Given the description of an element on the screen output the (x, y) to click on. 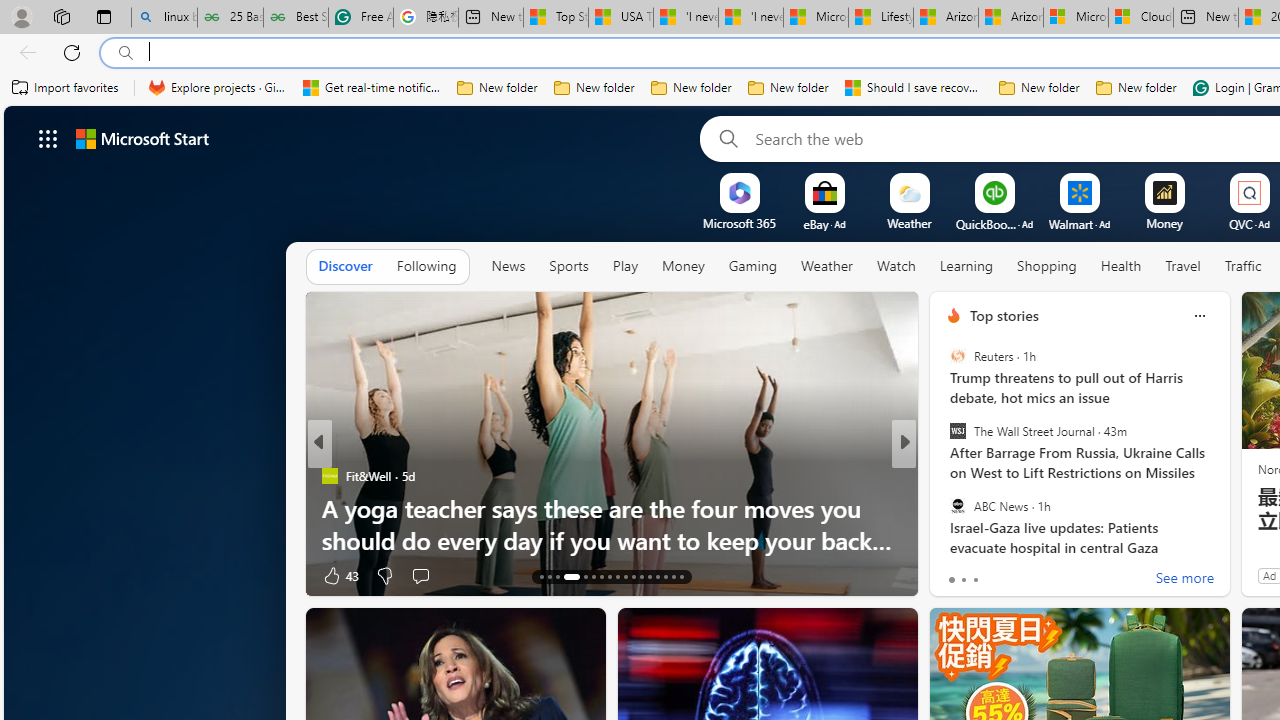
View comments 3 Comment (1041, 574)
AutomationID: tab-22 (624, 576)
1k Like (955, 574)
View comments 2k Comment (1044, 574)
Microsoft Services Agreement (1076, 17)
MSNBC (944, 507)
Money (682, 267)
1 Like (952, 574)
Should I save recovered Word documents? - Microsoft Support (913, 88)
Import favorites (65, 88)
